Given the description of an element on the screen output the (x, y) to click on. 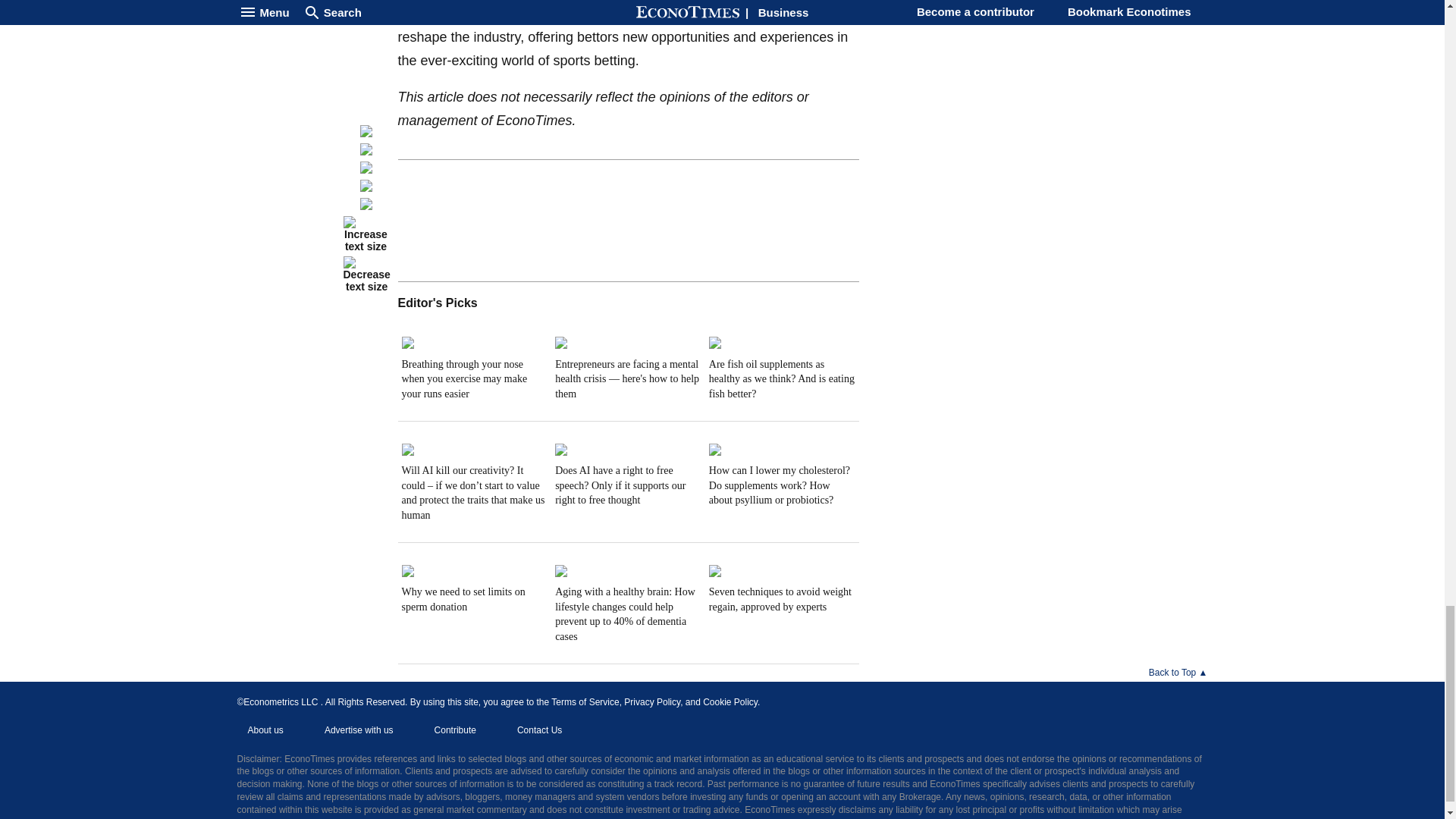
FastComments (628, 216)
